Given the description of an element on the screen output the (x, y) to click on. 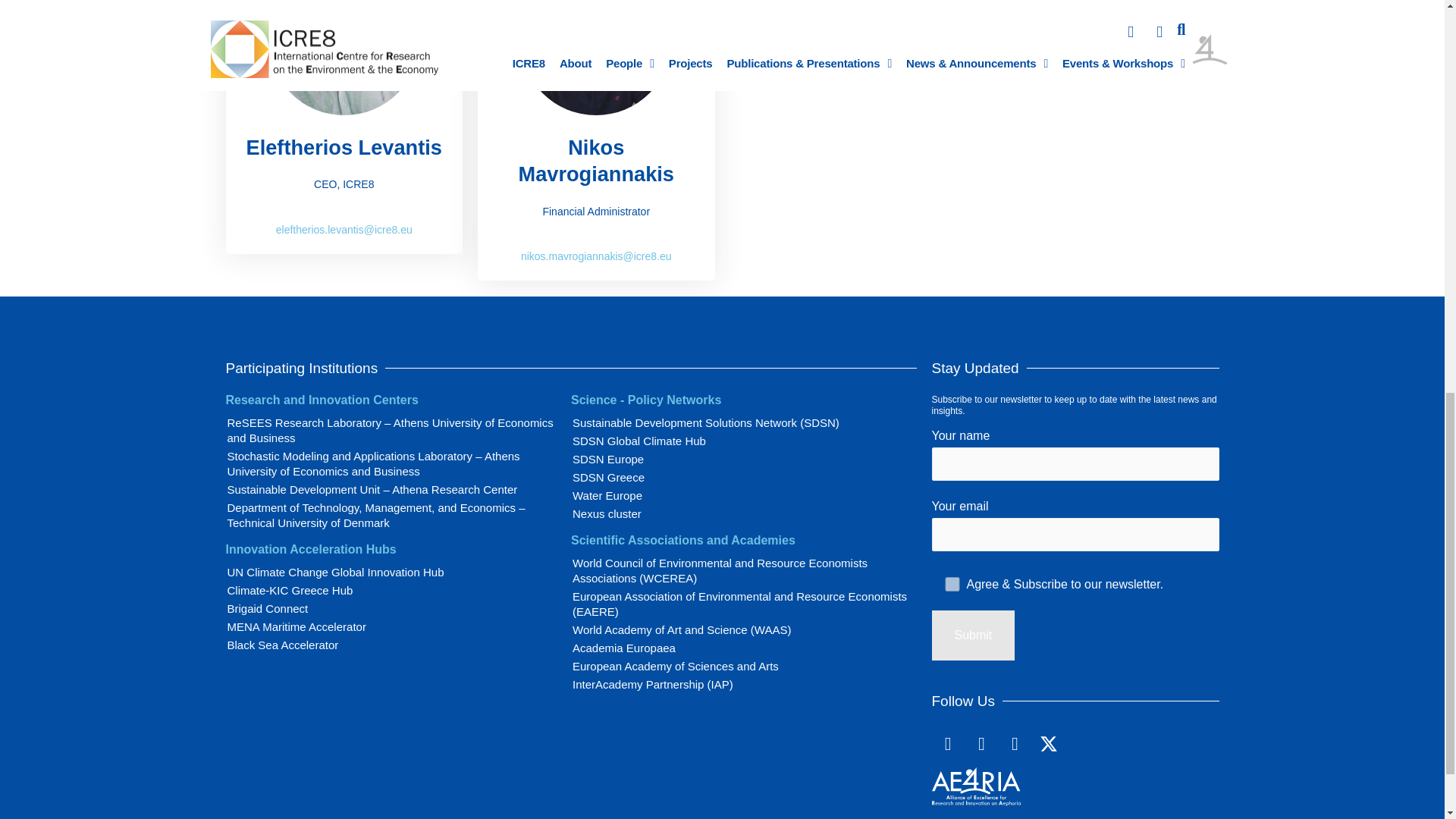
1 (951, 584)
Submit (972, 635)
